Given the description of an element on the screen output the (x, y) to click on. 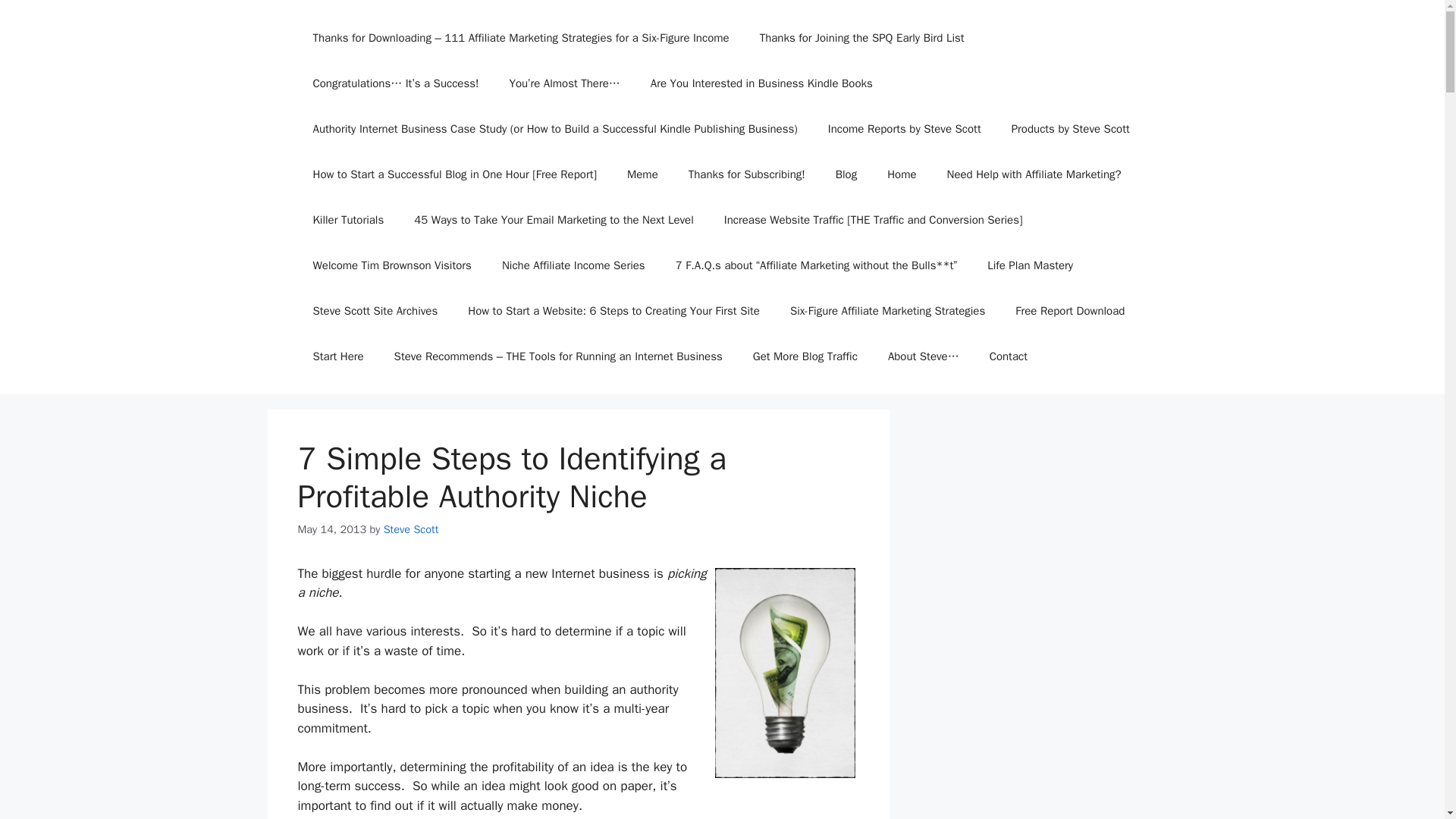
Welcome Tim Brownson Visitors (391, 265)
Blog (846, 174)
Six-Figure Affiliate Marketing Strategies (887, 310)
Are You Interested in Business Kindle Books (761, 83)
Get More Blog Traffic (805, 356)
45 Ways to Take Your Email Marketing to the Next Level (553, 219)
Products by Steve Scott (1069, 128)
Thanks for Joining the SPQ Early Bird List (861, 37)
Start Here (337, 356)
Free Report Download (1070, 310)
Thanks for Subscribing! (746, 174)
Life Plan Mastery (1029, 265)
Meme (641, 174)
Contact (1008, 356)
Need Help with Affiliate Marketing? (1034, 174)
